Given the description of an element on the screen output the (x, y) to click on. 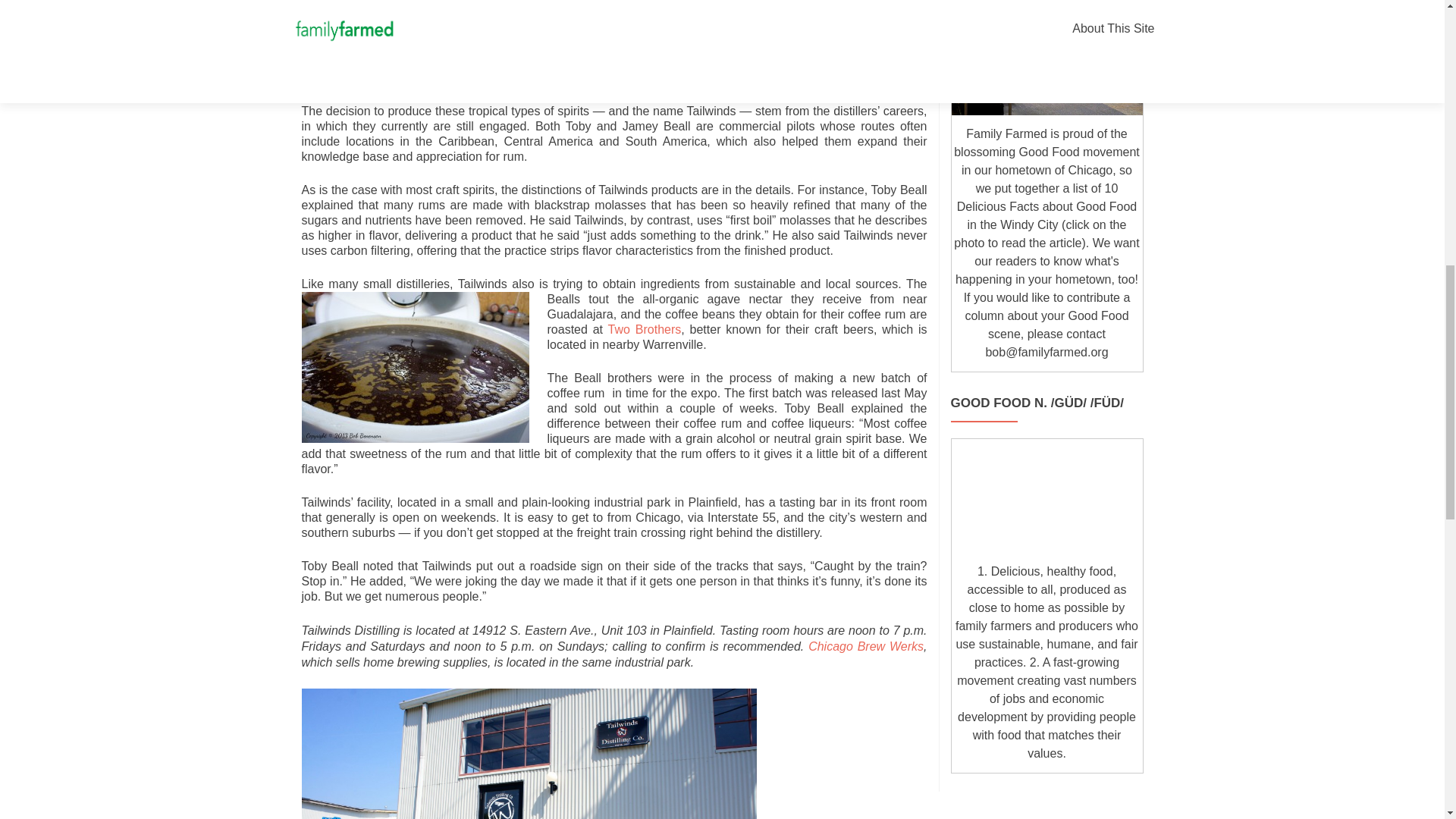
Chicago Brew Werks (865, 645)
Chicago Brew Werks (865, 645)
Two Brothers (641, 328)
Two Brothers Brewing (641, 328)
